Given the description of an element on the screen output the (x, y) to click on. 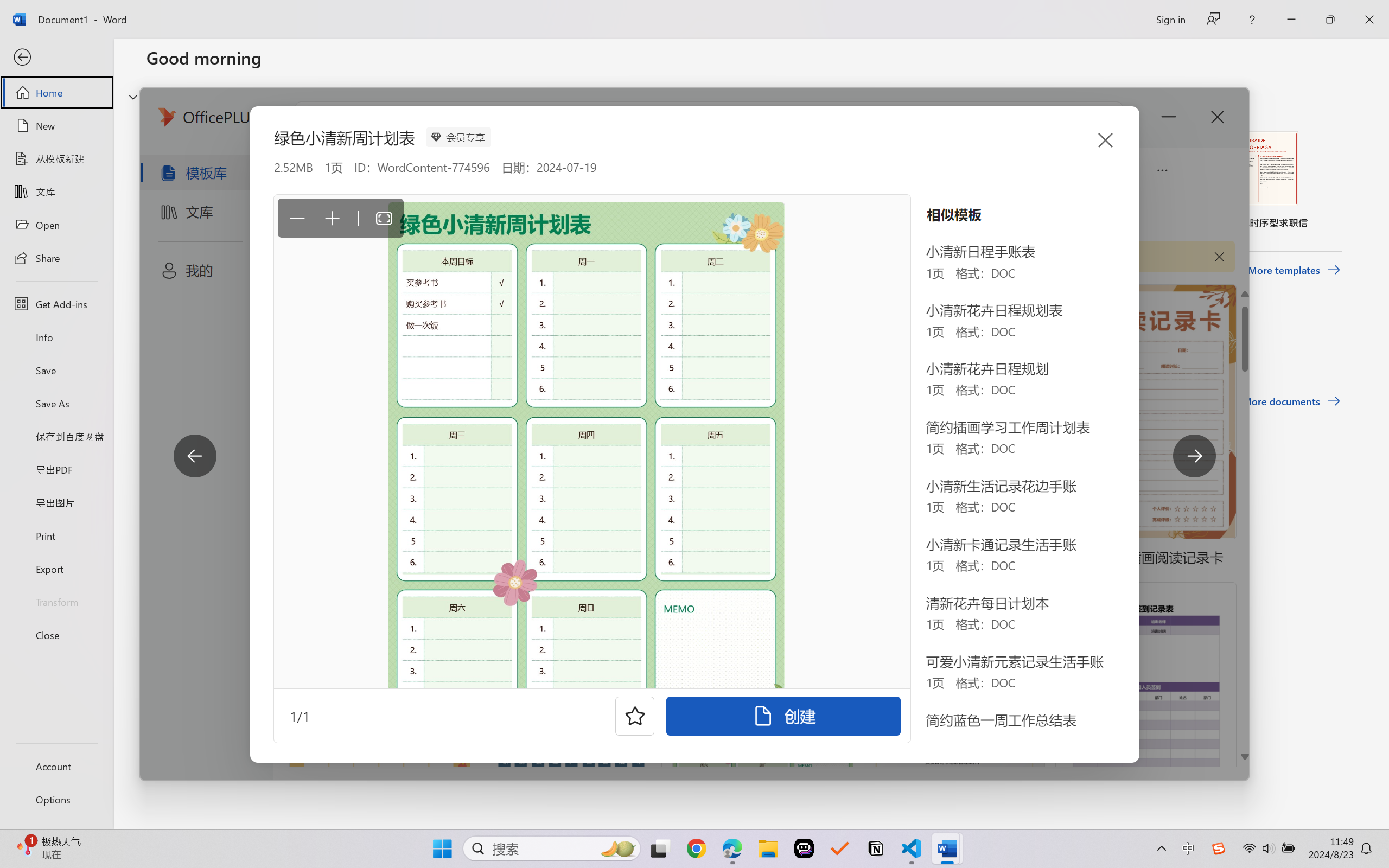
Save As (56, 403)
Options (56, 798)
Sign in (1170, 18)
Blank document (219, 180)
Print (56, 535)
